Given the description of an element on the screen output the (x, y) to click on. 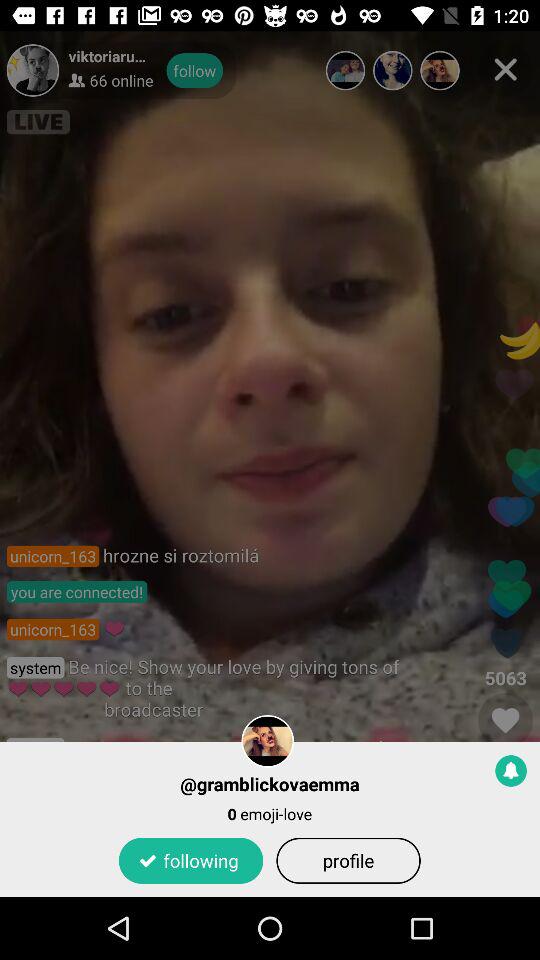
launch the item below 0 emoji-love (190, 860)
